Given the description of an element on the screen output the (x, y) to click on. 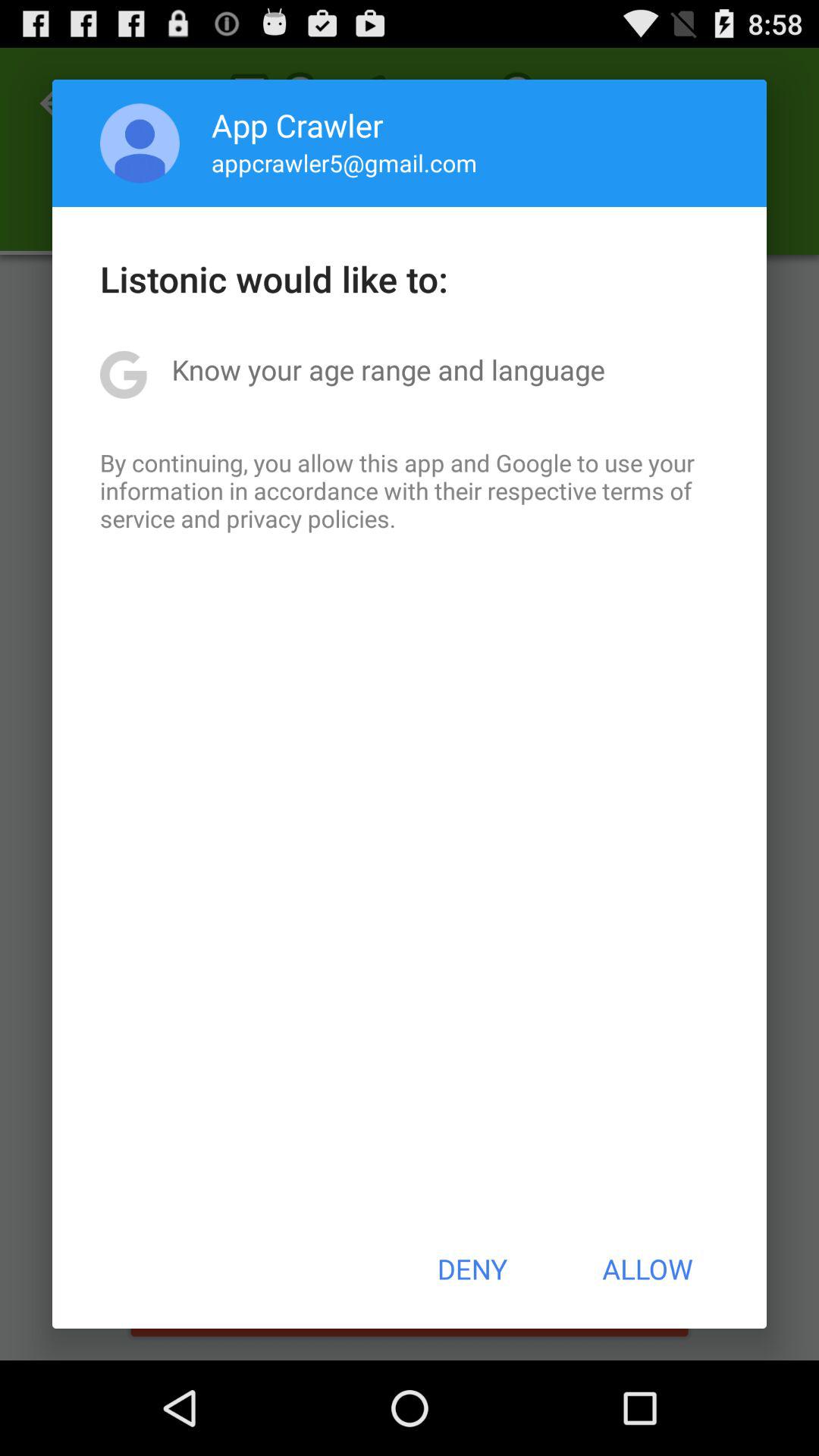
jump to the deny icon (471, 1268)
